Given the description of an element on the screen output the (x, y) to click on. 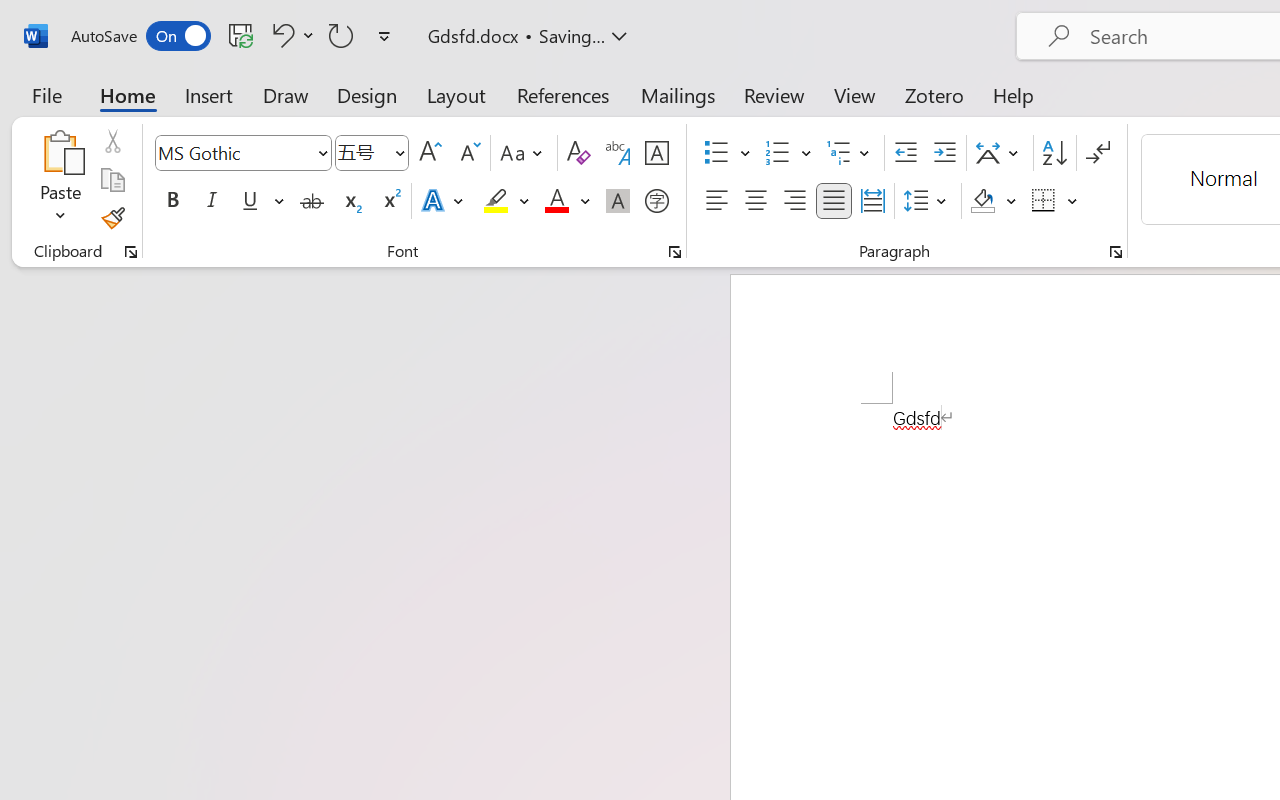
Undo Font Formatting (290, 35)
Undo Font Formatting (280, 35)
Change Case (524, 153)
Line and Paragraph Spacing (927, 201)
Align Left (716, 201)
Repeat Formatting (341, 35)
